Given the description of an element on the screen output the (x, y) to click on. 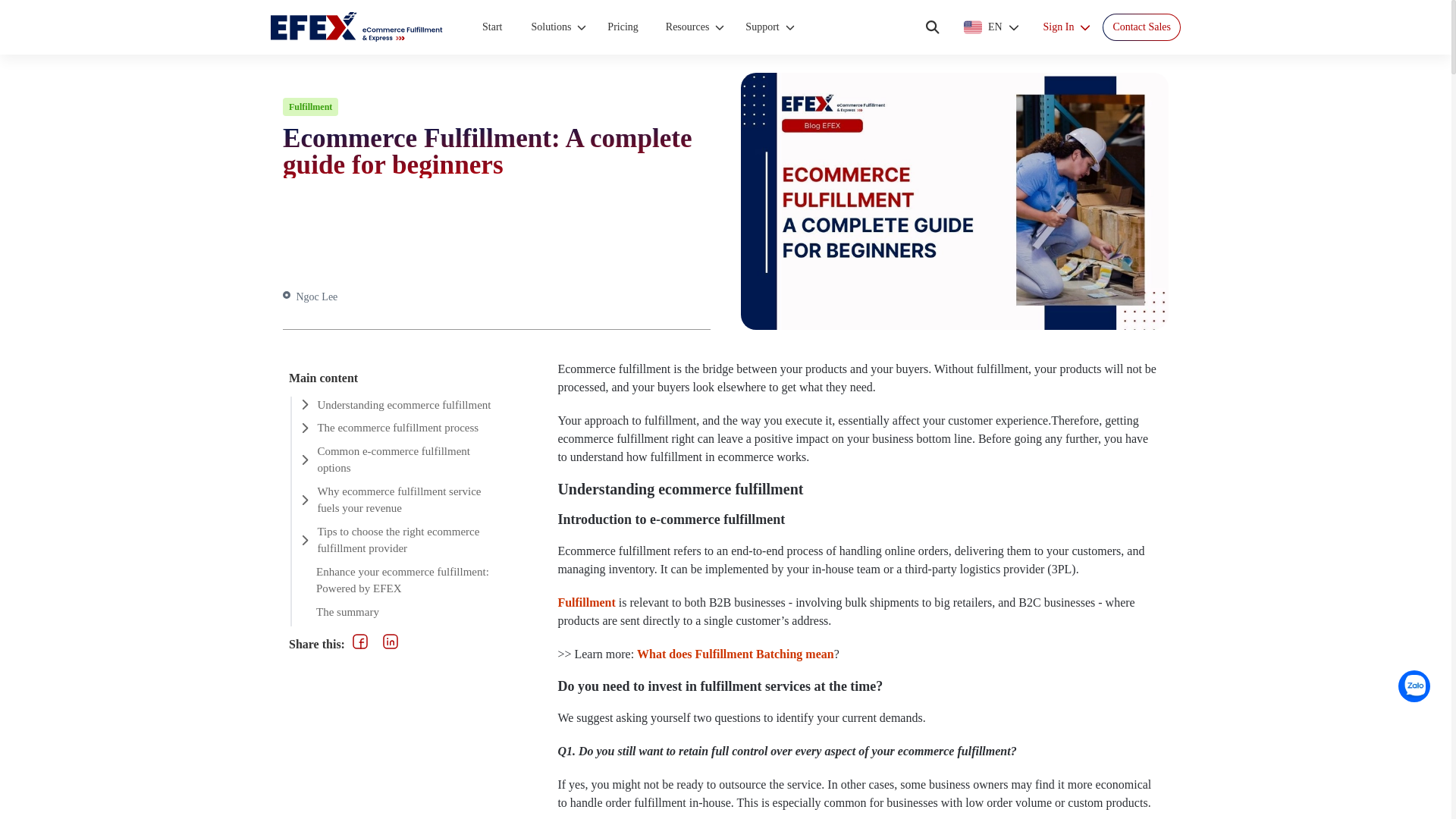
Pricing (624, 26)
Fulfillment (585, 602)
What does Fulfillment Batching mean (735, 653)
Sign In (1066, 27)
Contact Sales (1141, 26)
Tips to choose the right ecommerce fulfillment provider (402, 543)
Why ecommerce fulfillment service fuels your revenue (402, 503)
Understanding ecommerce fulfillment (402, 408)
Fulfillment (309, 106)
Common e-commerce fulfillment options (402, 463)
The ecommerce fulfillment process (402, 431)
The summary (402, 615)
Enhance your ecommerce fulfillment: Powered by EFEX (402, 583)
Start (494, 26)
EN (991, 27)
